Given the description of an element on the screen output the (x, y) to click on. 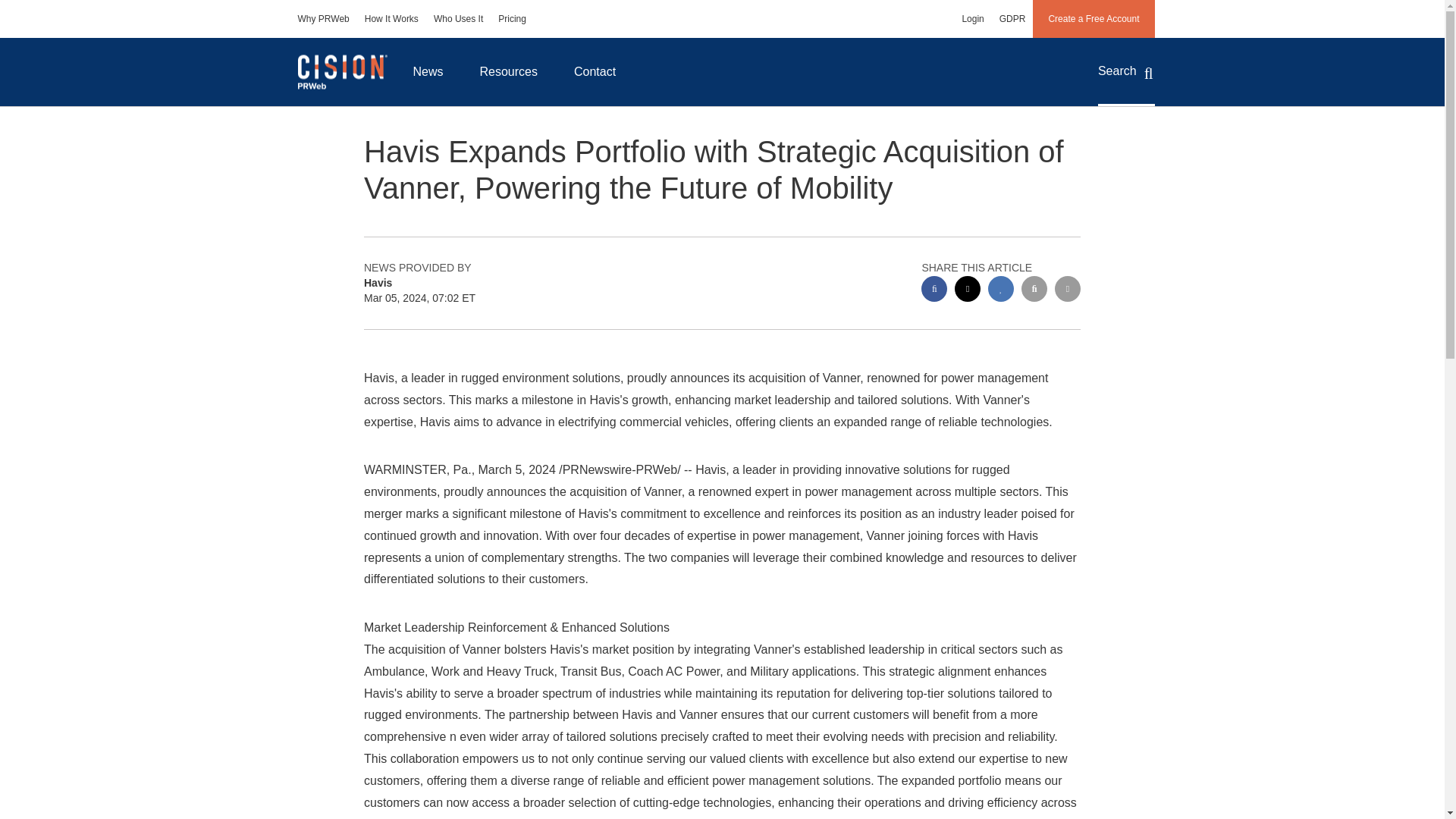
Pricing (512, 18)
Resources (508, 71)
Contact (594, 71)
News (427, 71)
Create a Free Account (1093, 18)
GDPR (1012, 18)
Who Uses It (458, 18)
Login (972, 18)
Why PRWeb (322, 18)
